Given the description of an element on the screen output the (x, y) to click on. 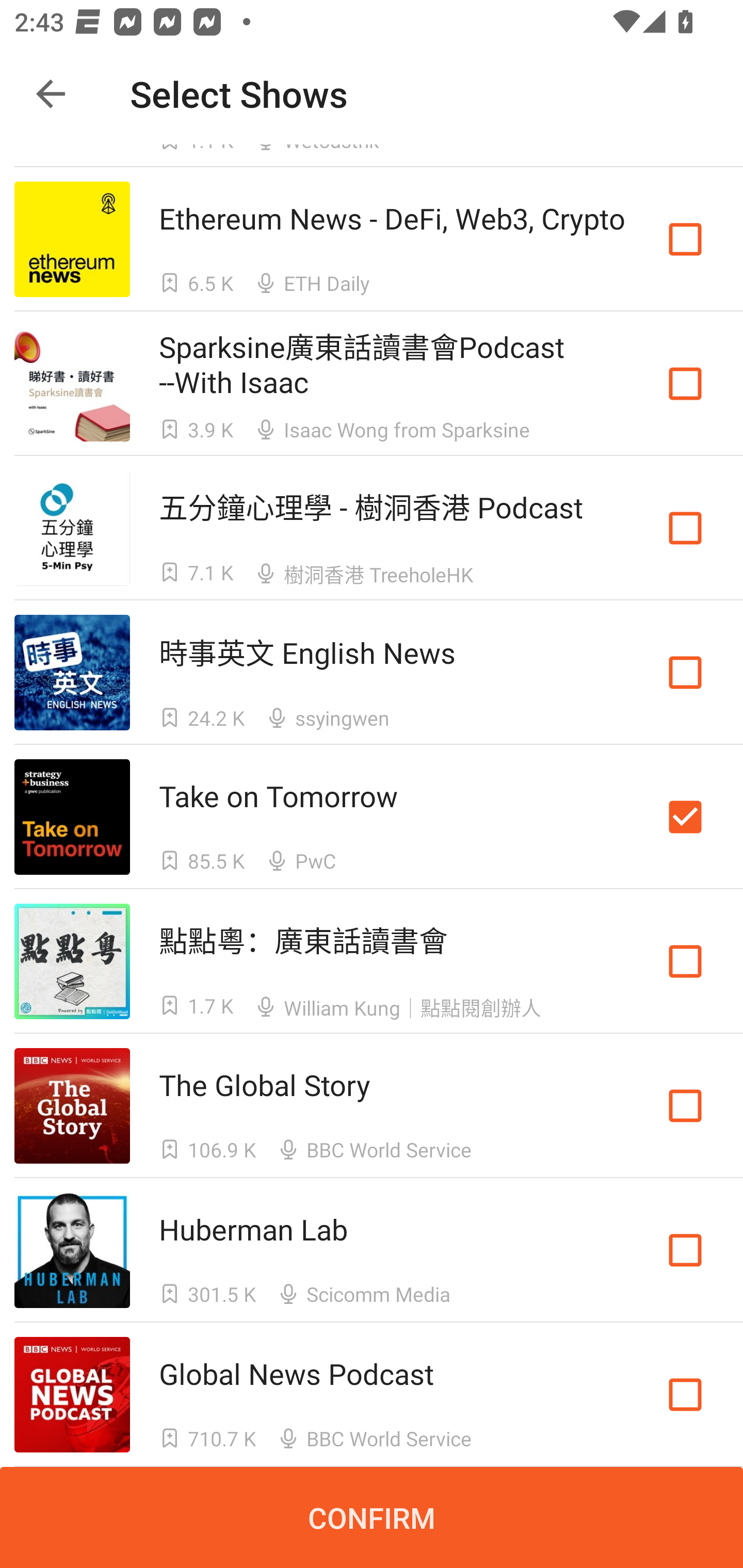
Navigate up (50, 93)
Take on Tomorrow Take on Tomorrow  85.5 K  PwC (371, 816)
CONFIRM (371, 1517)
